Given the description of an element on the screen output the (x, y) to click on. 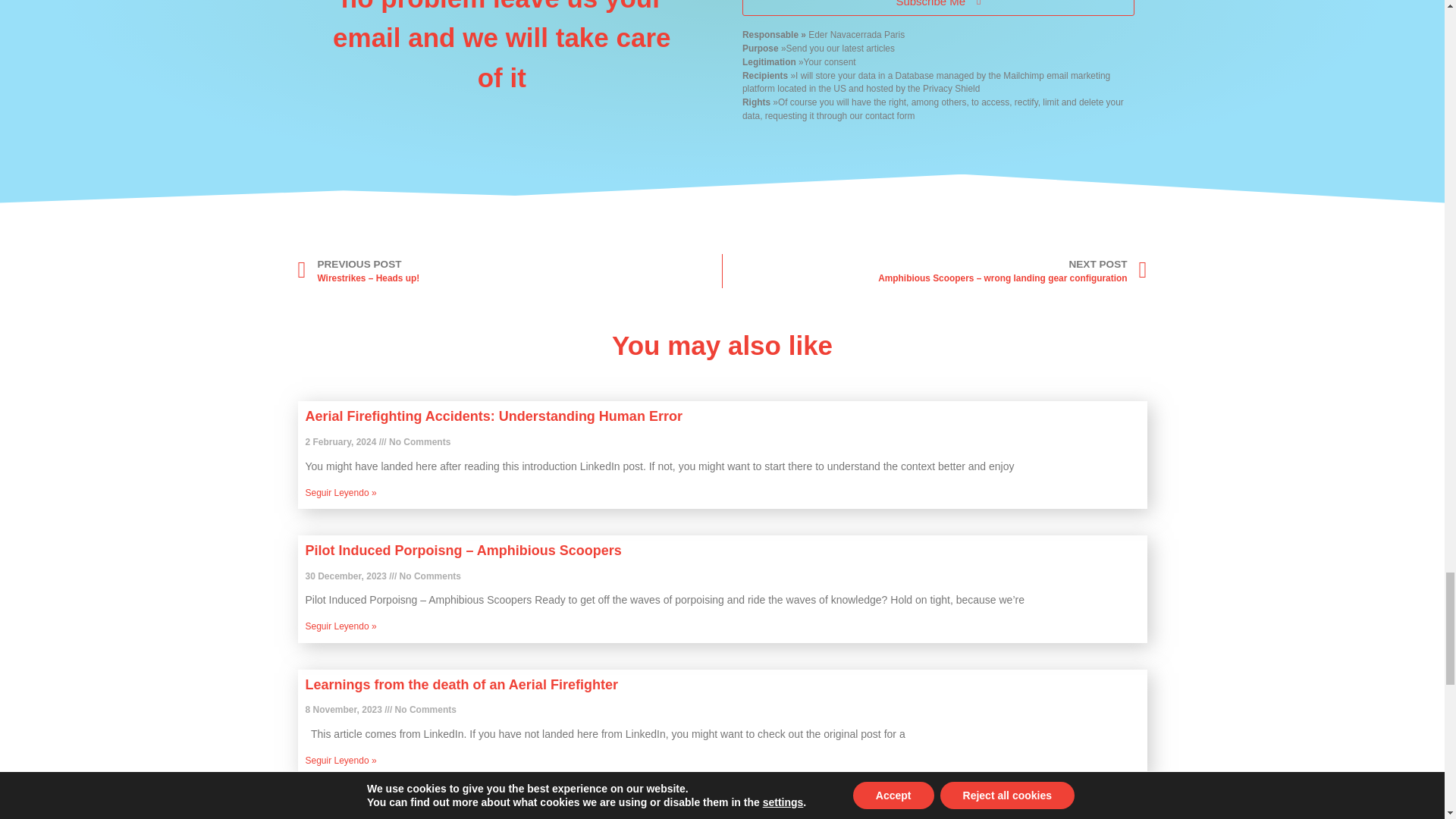
Learnings from the death of an Aerial Firefighter (460, 684)
Subscribe Me (938, 7)
Aerial Firefighting Accidents: Understanding Human Error (492, 416)
